Given the description of an element on the screen output the (x, y) to click on. 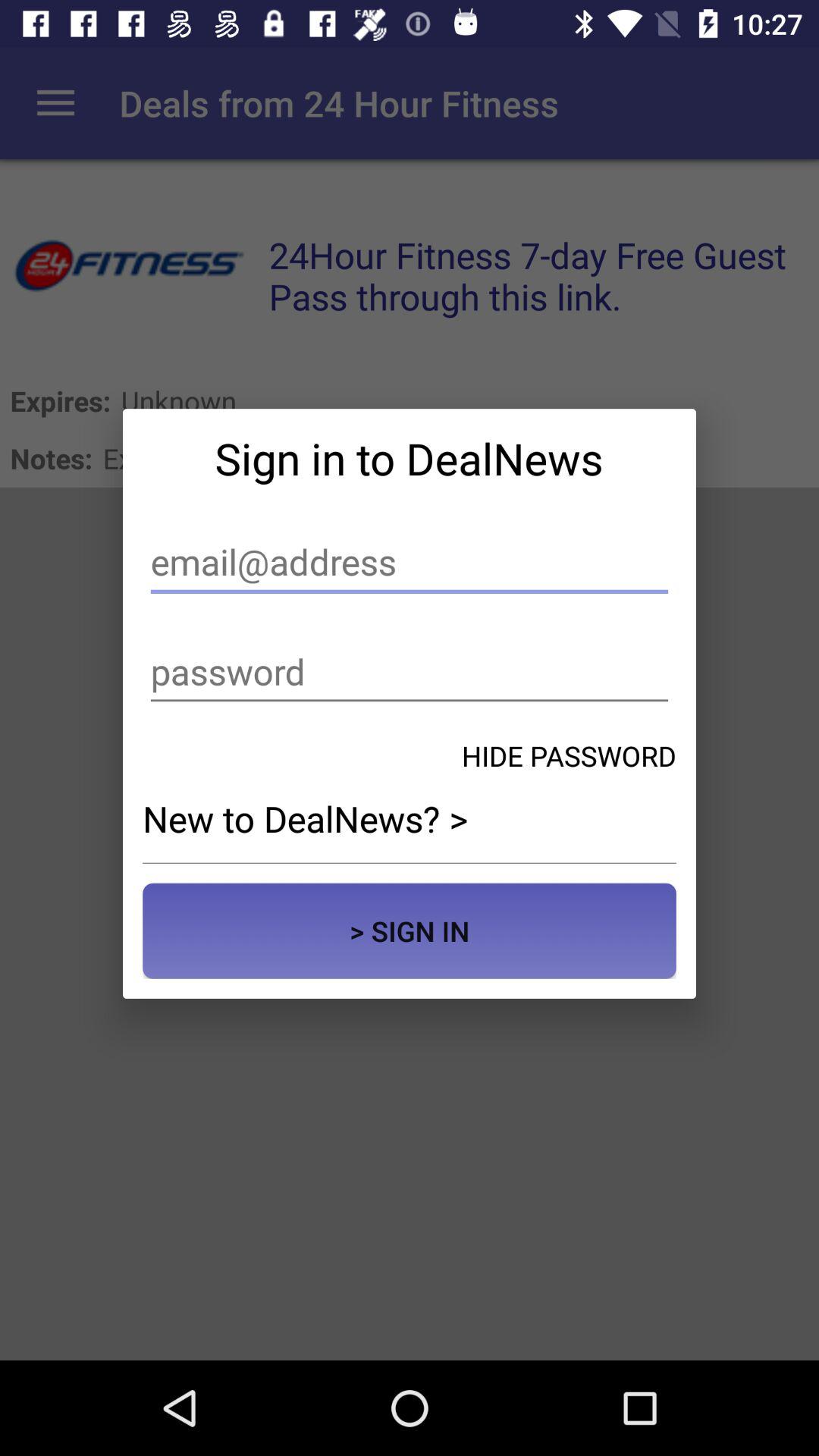
select item on the right (568, 755)
